Given the description of an element on the screen output the (x, y) to click on. 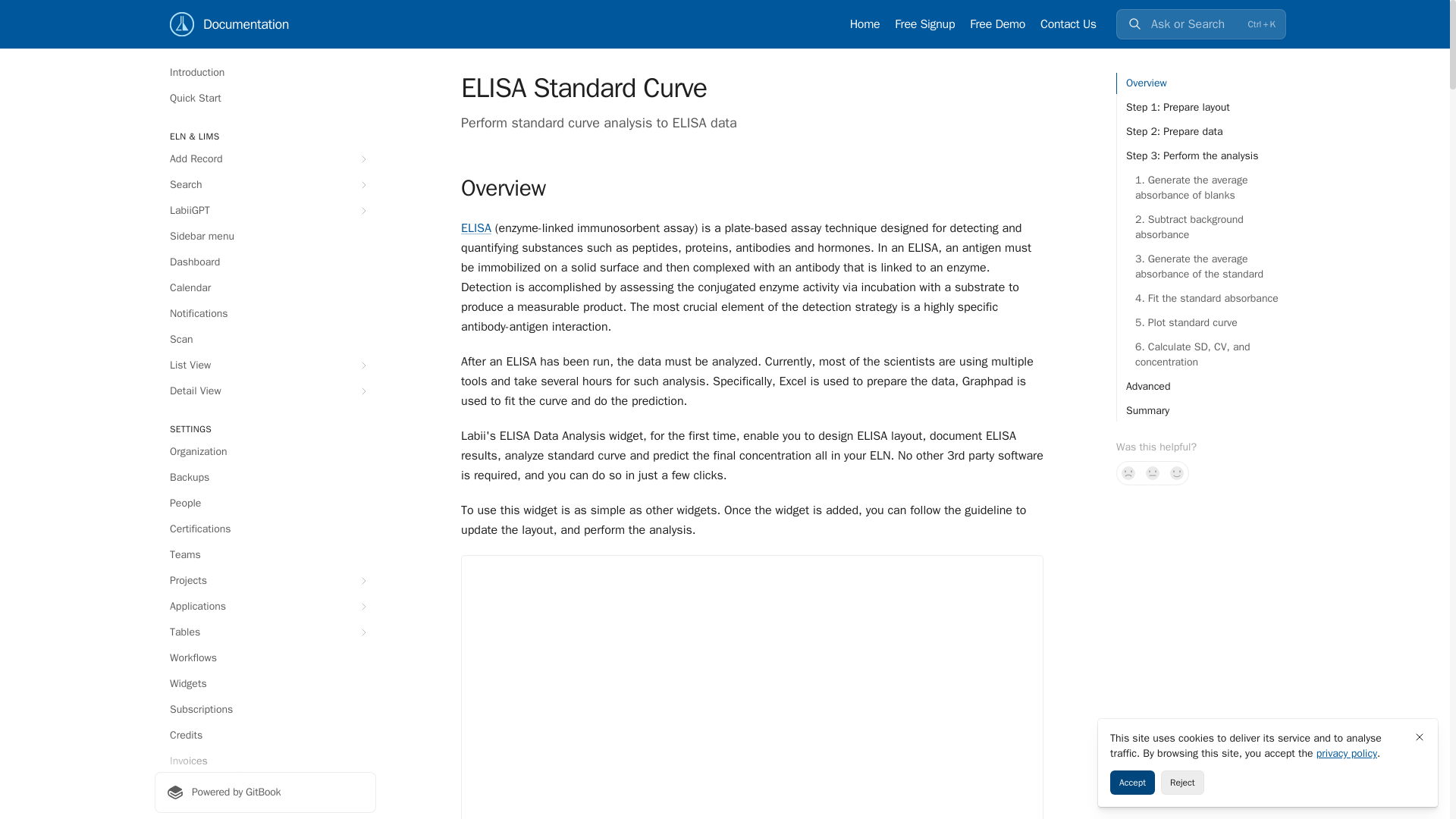
Add Record (264, 159)
Yes, it was! (1176, 473)
Documentation (229, 24)
Calendar (264, 288)
Free Demo (997, 24)
Notifications (264, 313)
Contact Us (1068, 24)
Quick Start (264, 98)
Sidebar menu (264, 236)
Free Signup (925, 24)
Introduction (264, 72)
Close (1419, 737)
Dashboard (264, 262)
Search (264, 184)
LabiiGPT (264, 210)
